Given the description of an element on the screen output the (x, y) to click on. 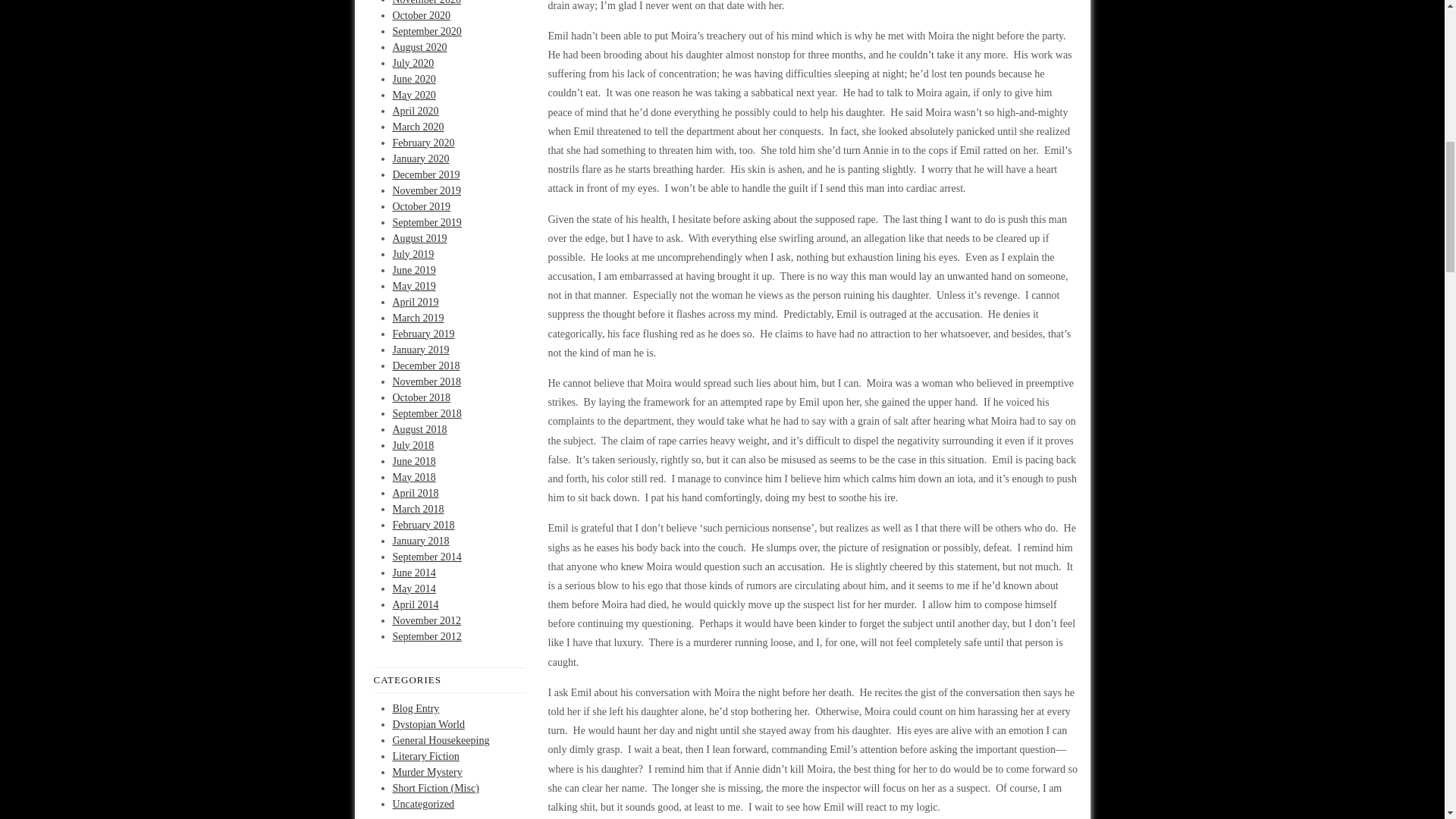
January 2020 (421, 158)
July 2020 (413, 62)
October 2020 (422, 14)
November 2020 (427, 2)
February 2020 (423, 142)
December 2019 (426, 173)
November 2019 (427, 190)
August 2020 (419, 46)
June 2020 (414, 78)
May 2020 (414, 94)
